Given the description of an element on the screen output the (x, y) to click on. 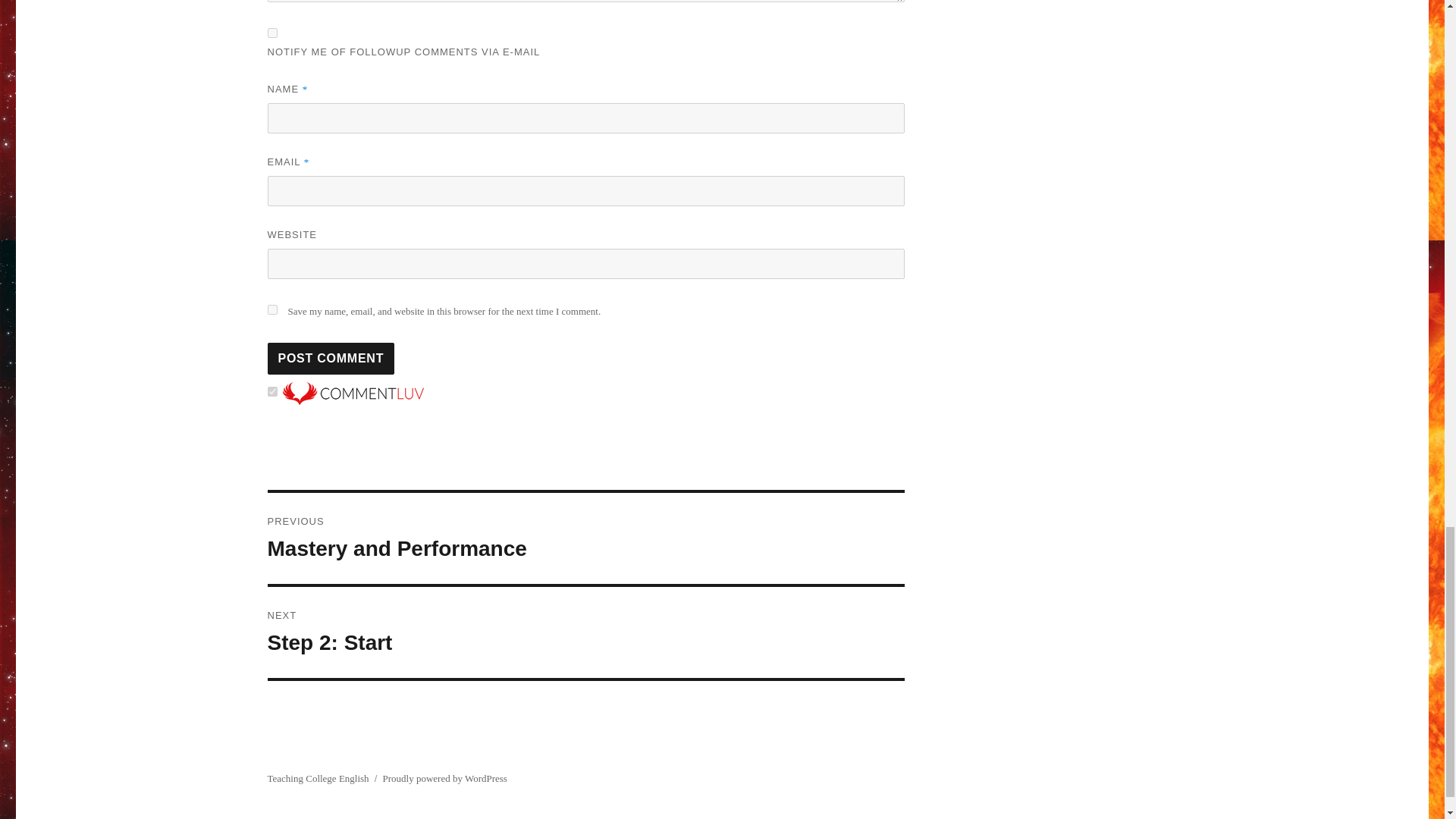
on (271, 391)
yes (585, 538)
Post Comment (271, 309)
Post Comment (330, 358)
CommentLuv is enabled (585, 632)
subscribe (330, 358)
